Given the description of an element on the screen output the (x, y) to click on. 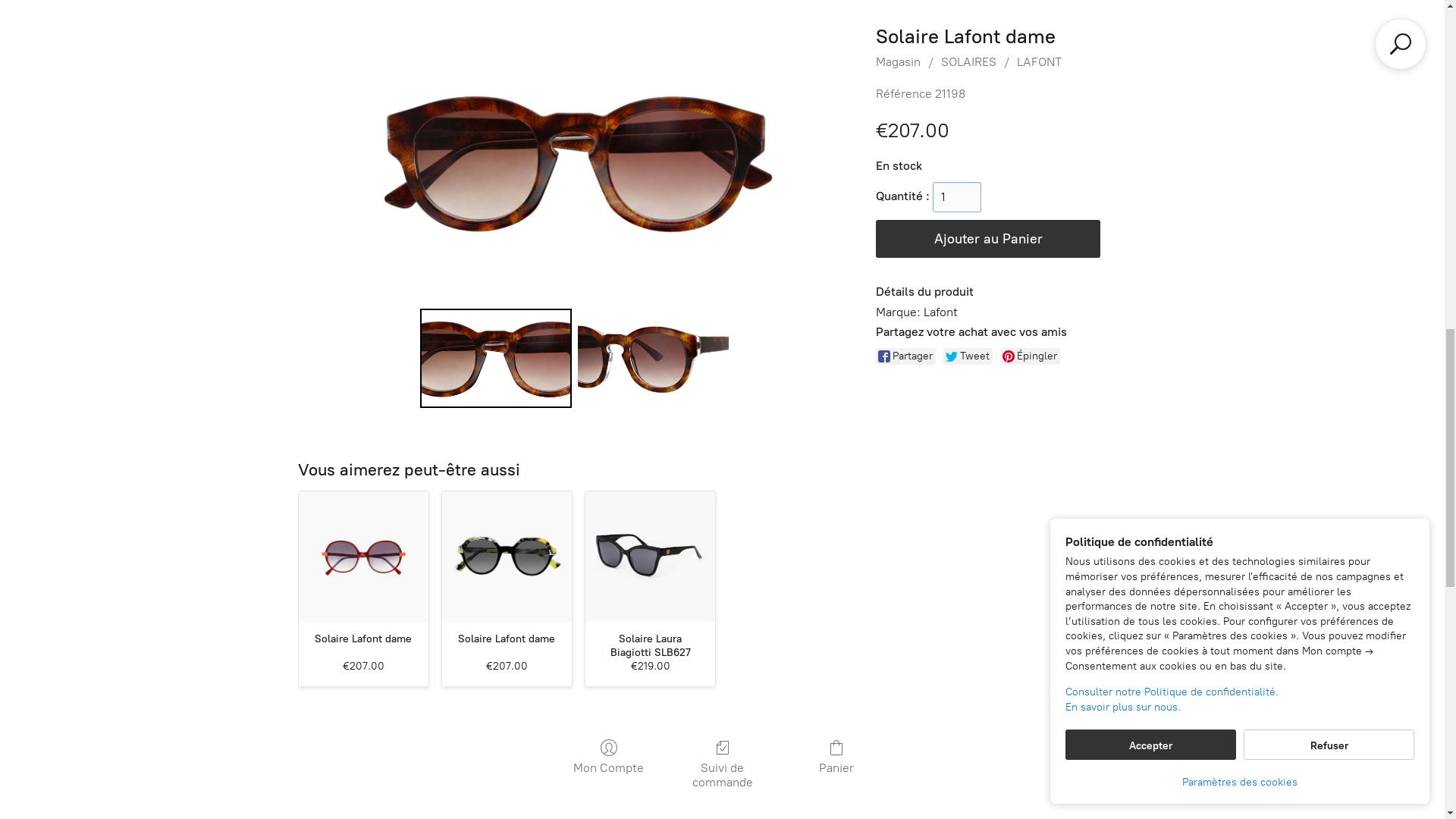
Contactez-nous Element type: text (273, 29)
Boutique Element type: text (55, 29)
Heures d'ouverture Element type: text (1297, 28)
